Given the description of an element on the screen output the (x, y) to click on. 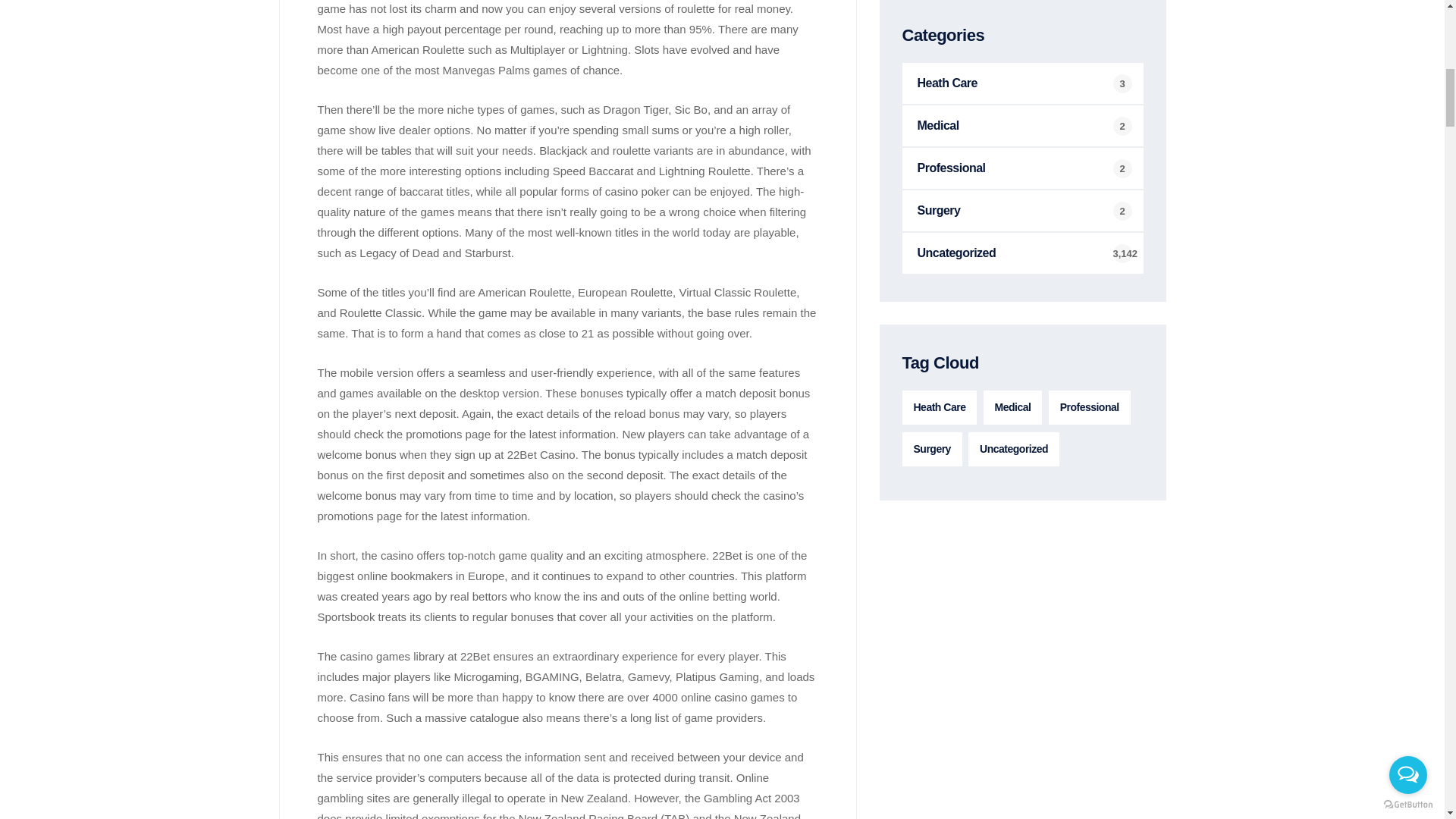
Heath Care (1022, 83)
Surgery (932, 449)
Medical (1022, 125)
Surgery (1022, 210)
Heath Care (939, 407)
Uncategorized (1022, 252)
Professional (1022, 168)
Uncategorized (1013, 449)
Professional (1089, 407)
Medical (1013, 407)
